Given the description of an element on the screen output the (x, y) to click on. 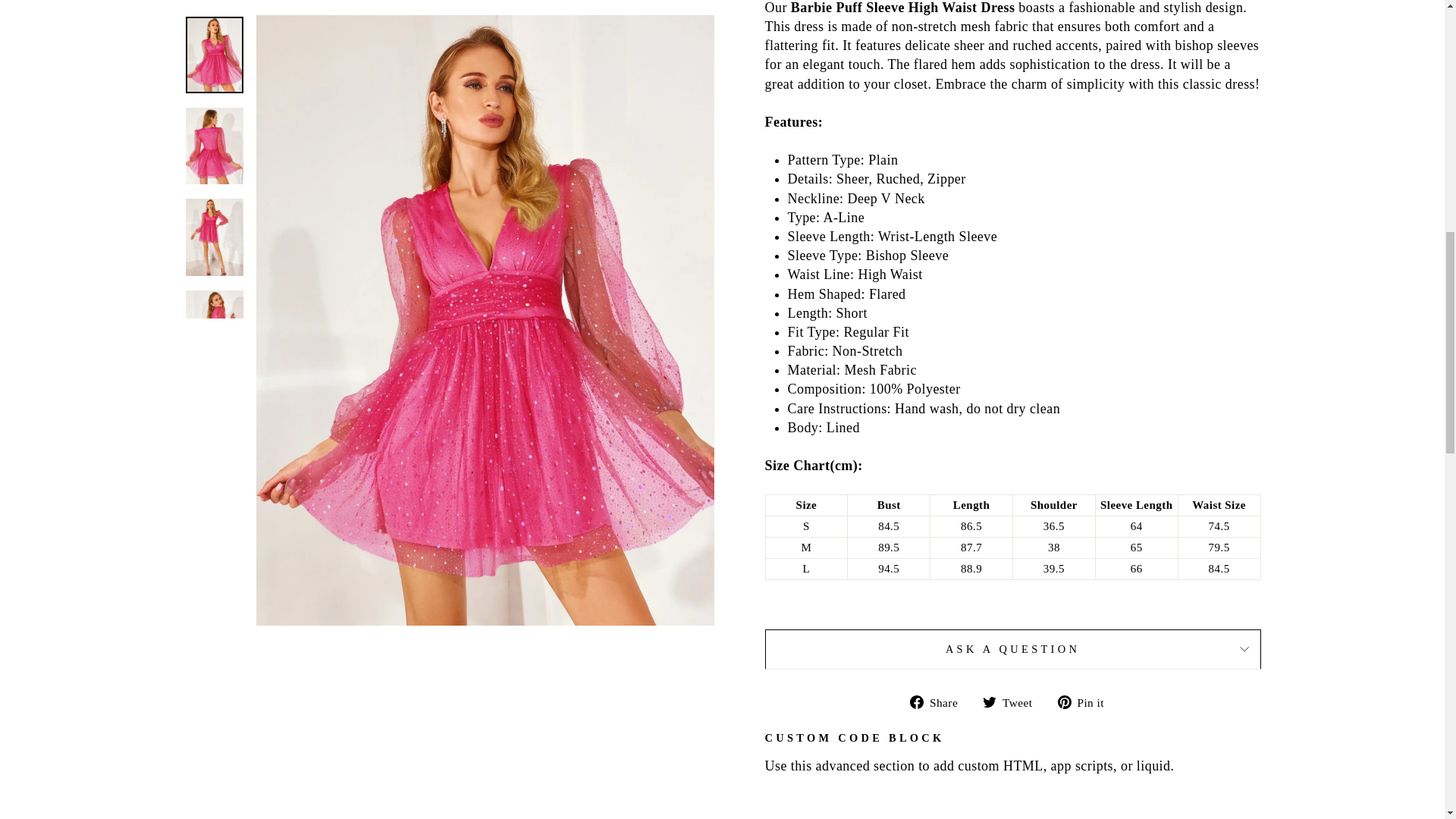
Share on Facebook (939, 701)
twitter (988, 702)
Pin on Pinterest (1086, 701)
Tweet on Twitter (1012, 701)
